Given the description of an element on the screen output the (x, y) to click on. 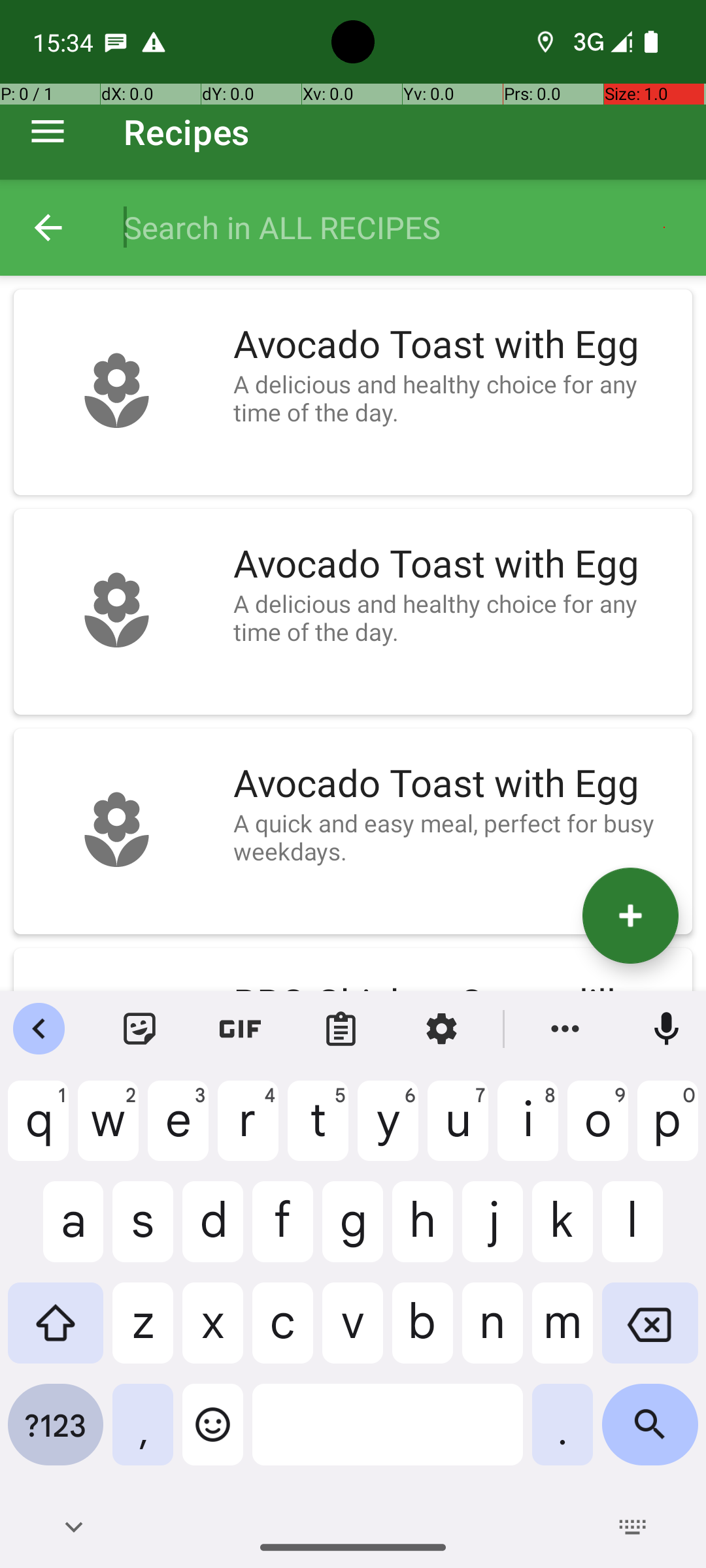
Collapse Element type: android.widget.ImageButton (48, 227)
Search in ALL RECIPES Element type: android.widget.AutoCompleteTextView (400, 227)
